Given the description of an element on the screen output the (x, y) to click on. 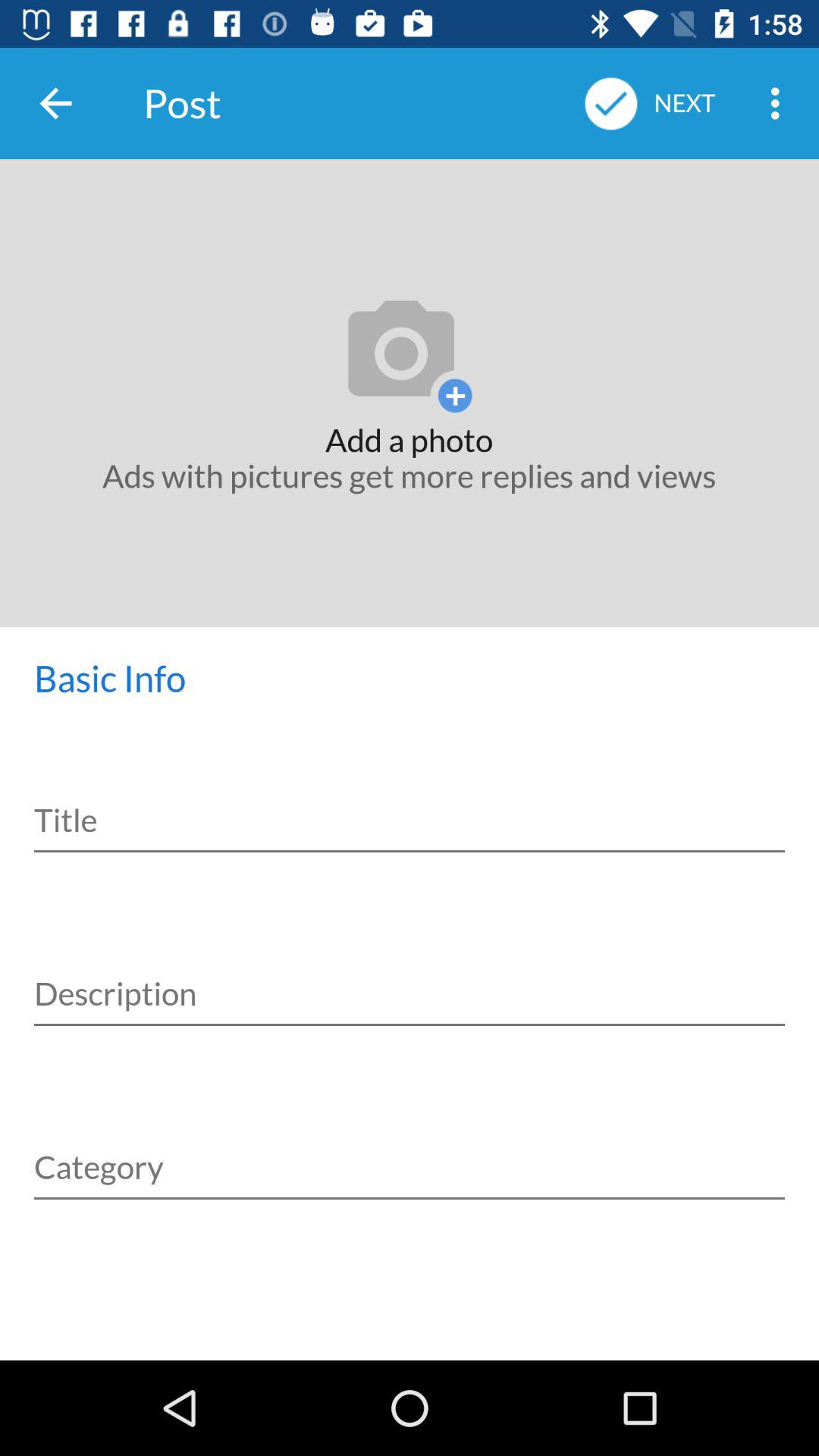
enter title (409, 810)
